Given the description of an element on the screen output the (x, y) to click on. 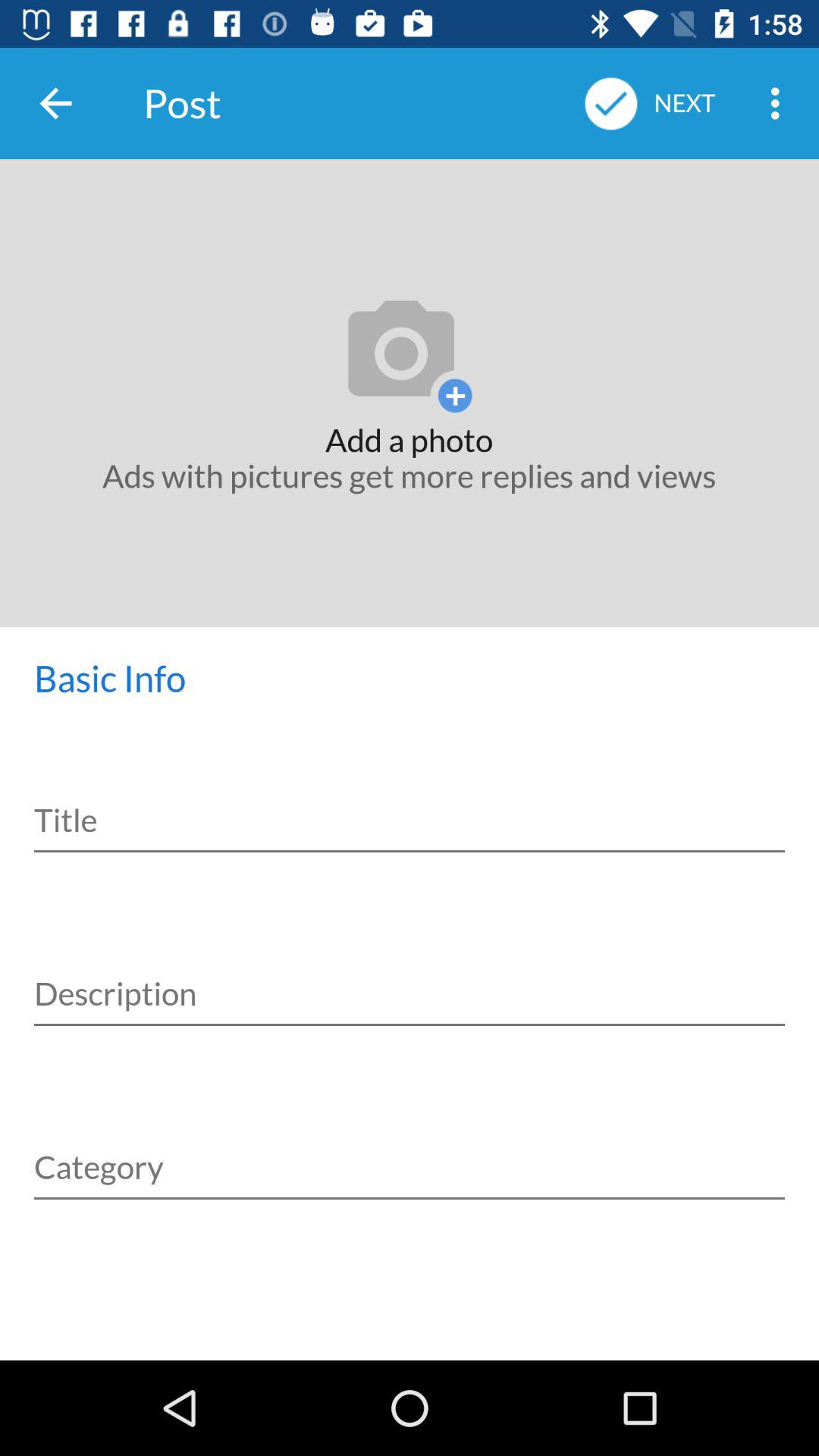
enter title (409, 810)
